Given the description of an element on the screen output the (x, y) to click on. 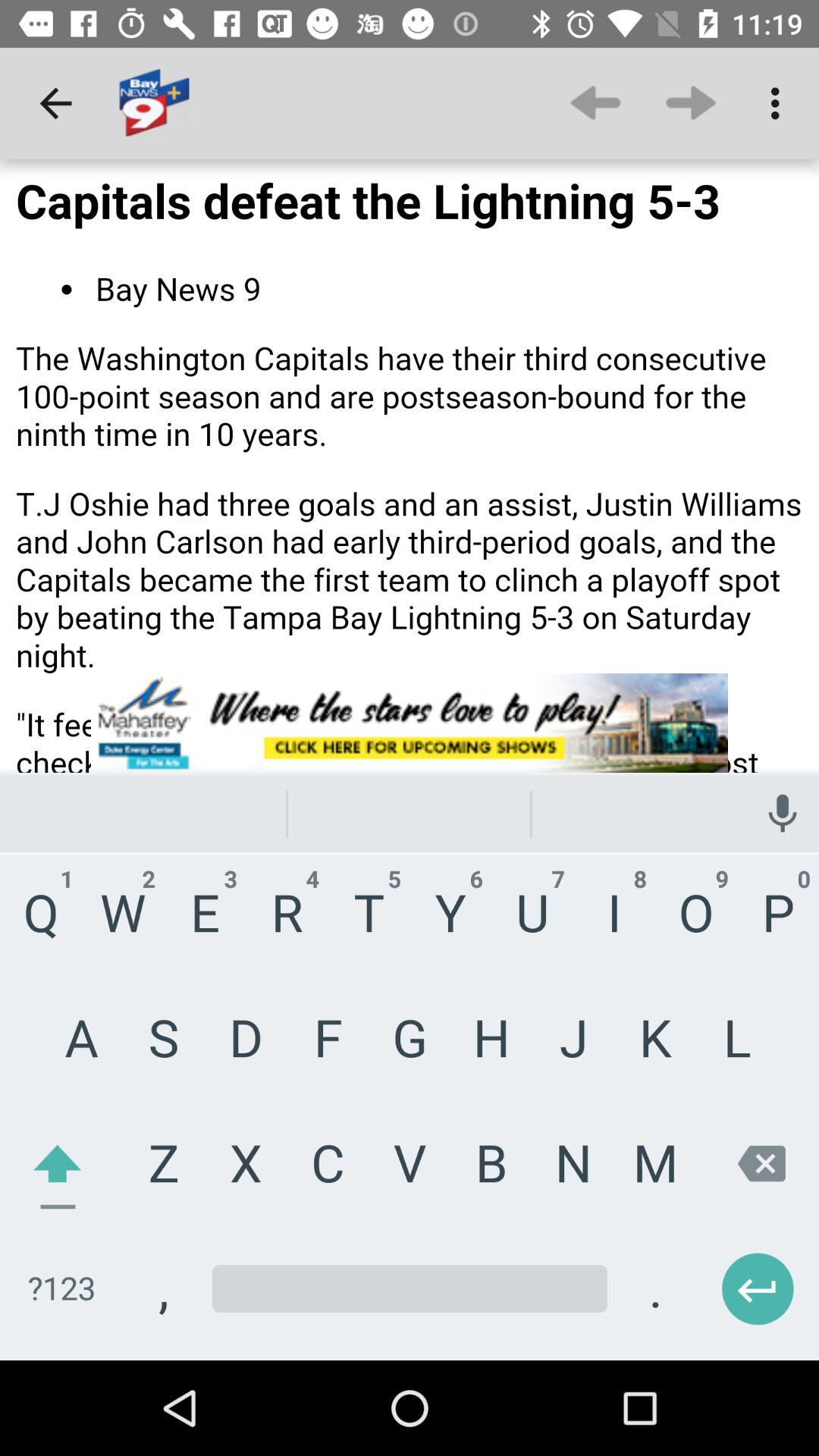
file (409, 759)
